Given the description of an element on the screen output the (x, y) to click on. 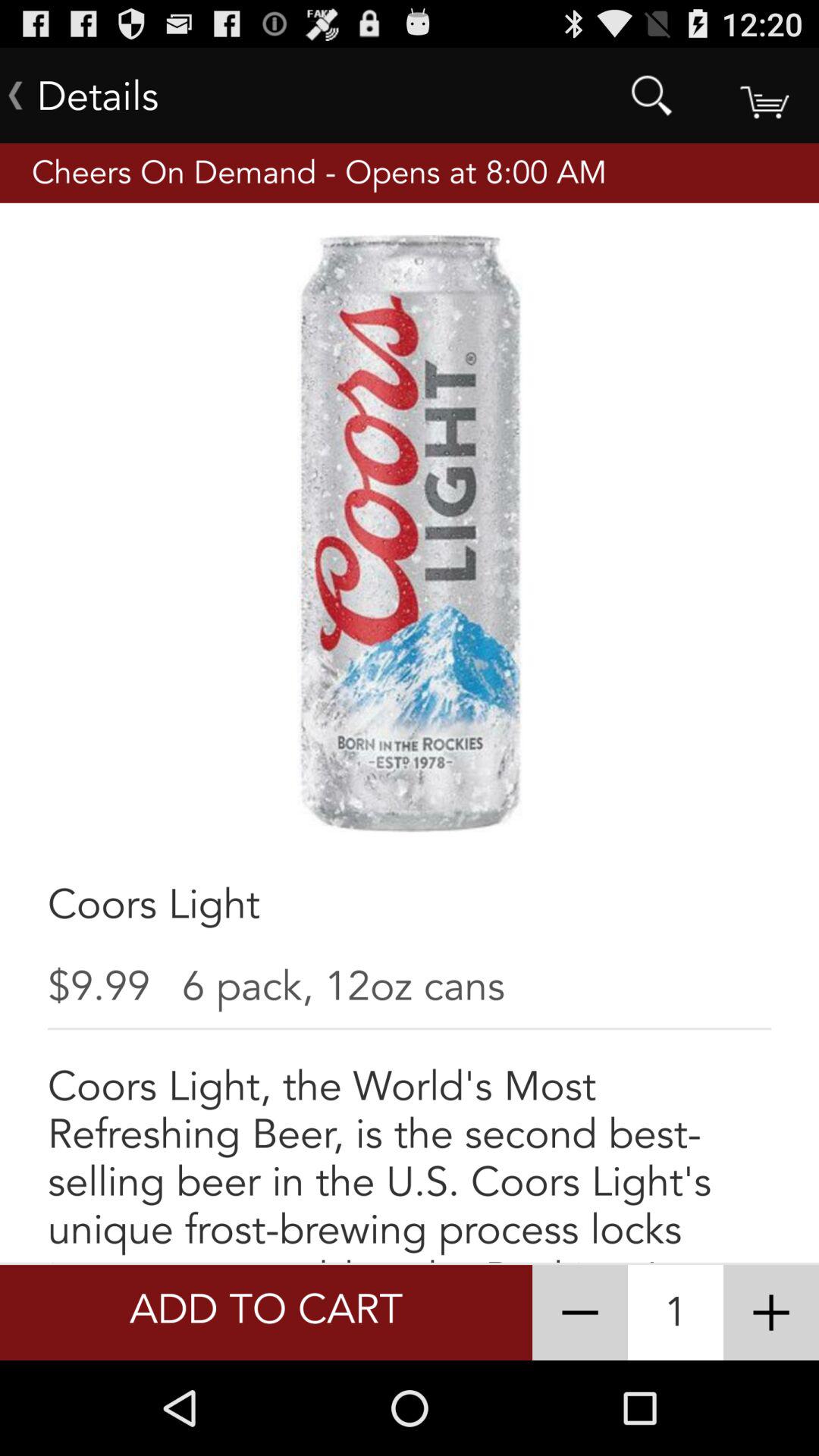
choose the item to the right of details app (651, 95)
